Given the description of an element on the screen output the (x, y) to click on. 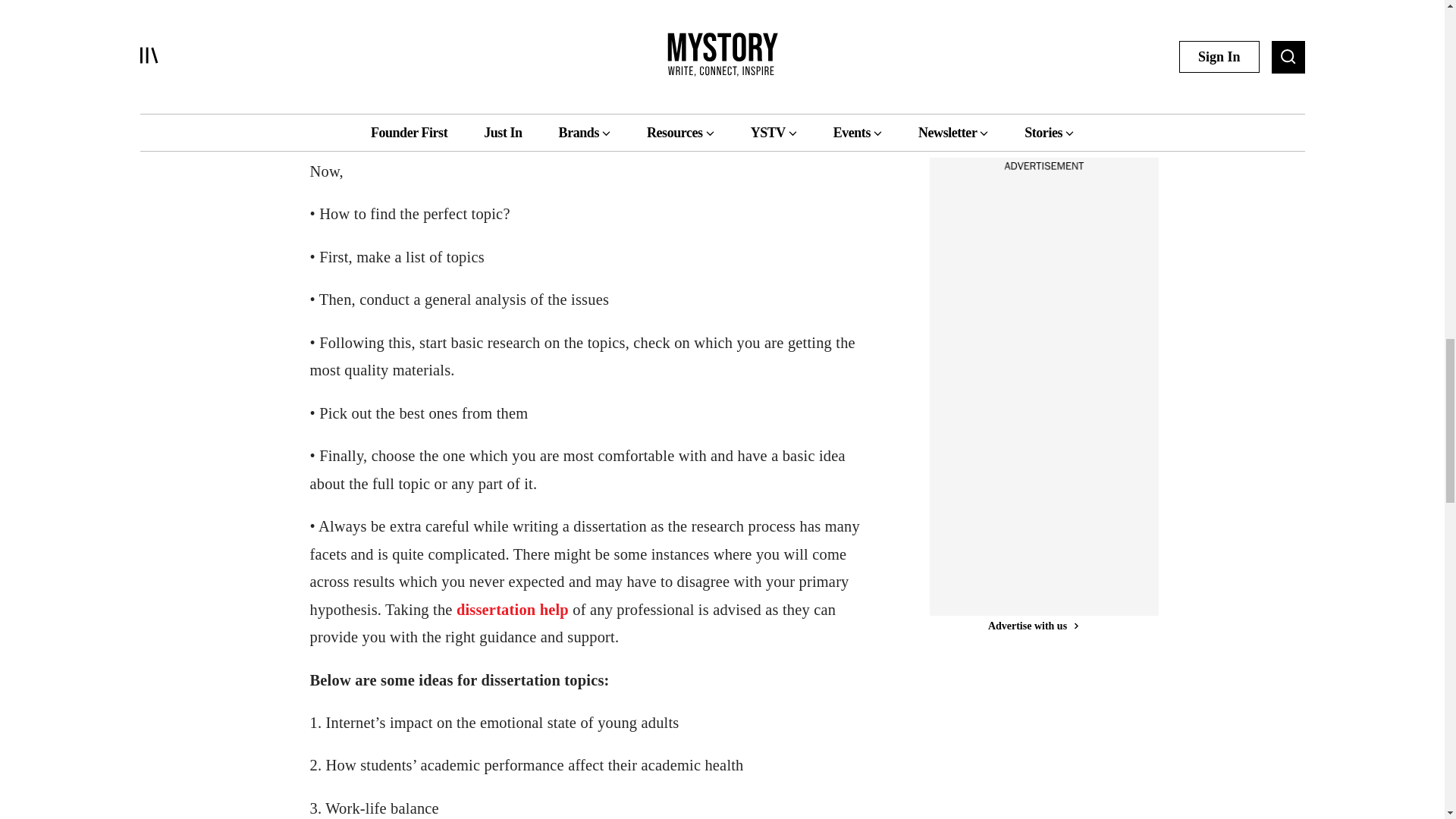
Advertise with us (1032, 625)
dissertation help (513, 609)
Best PC Optimizer Software For Windows 7, 8, 10 (1013, 65)
Advertise with us (1032, 139)
REVIEWS (979, 26)
